Given the description of an element on the screen output the (x, y) to click on. 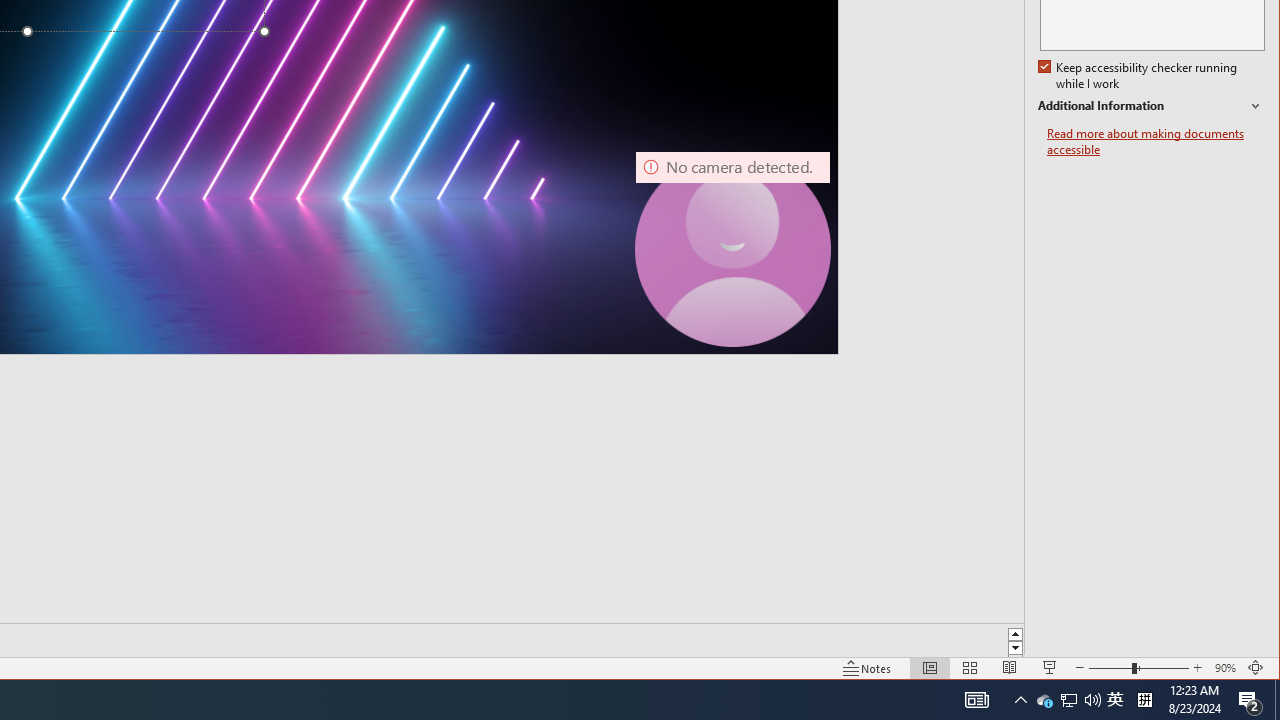
Zoom 90% (1225, 668)
